Given the description of an element on the screen output the (x, y) to click on. 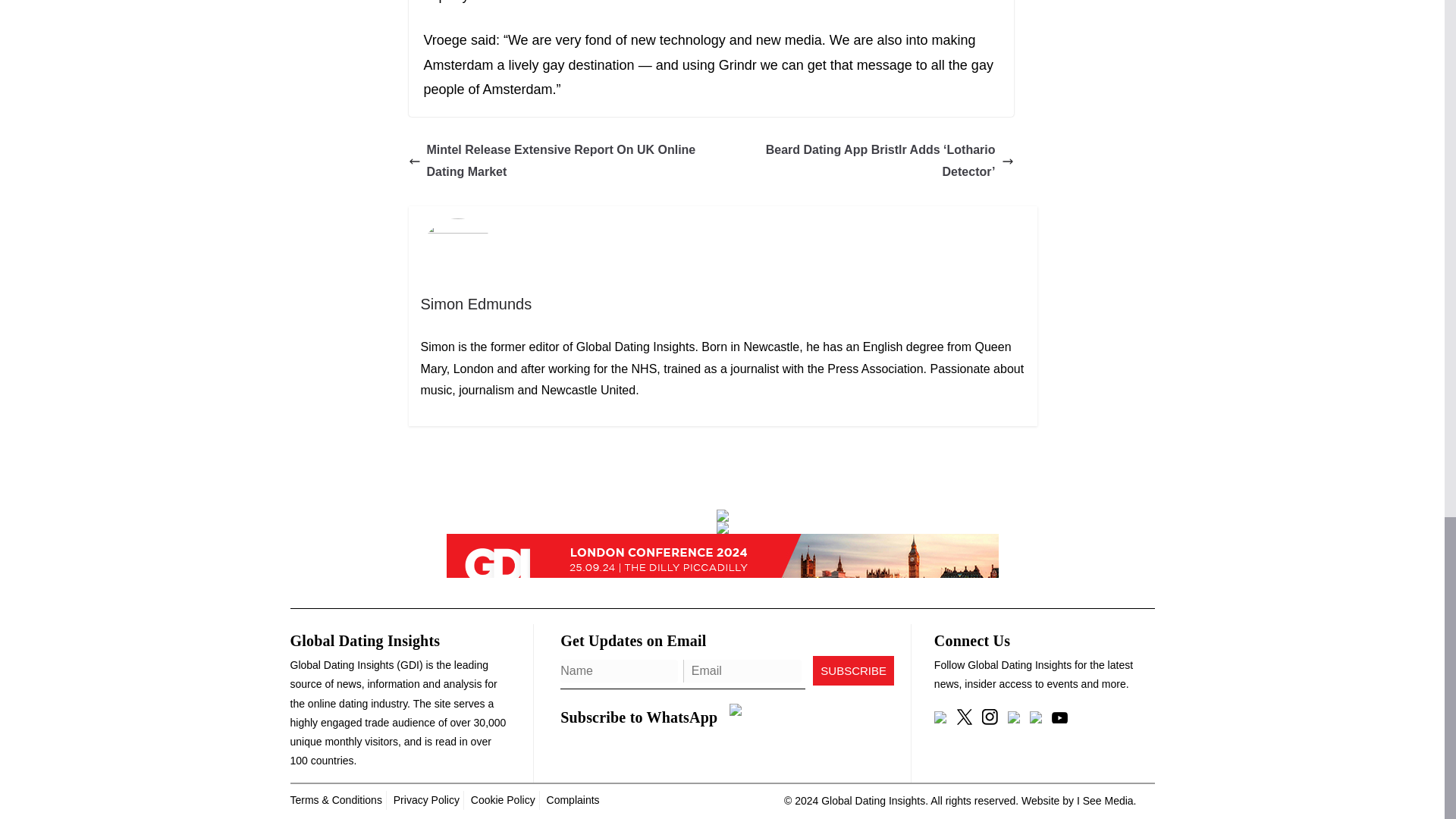
Global Dating Insights (872, 800)
Subscribe (852, 670)
WordPress (1105, 800)
